Given the description of an element on the screen output the (x, y) to click on. 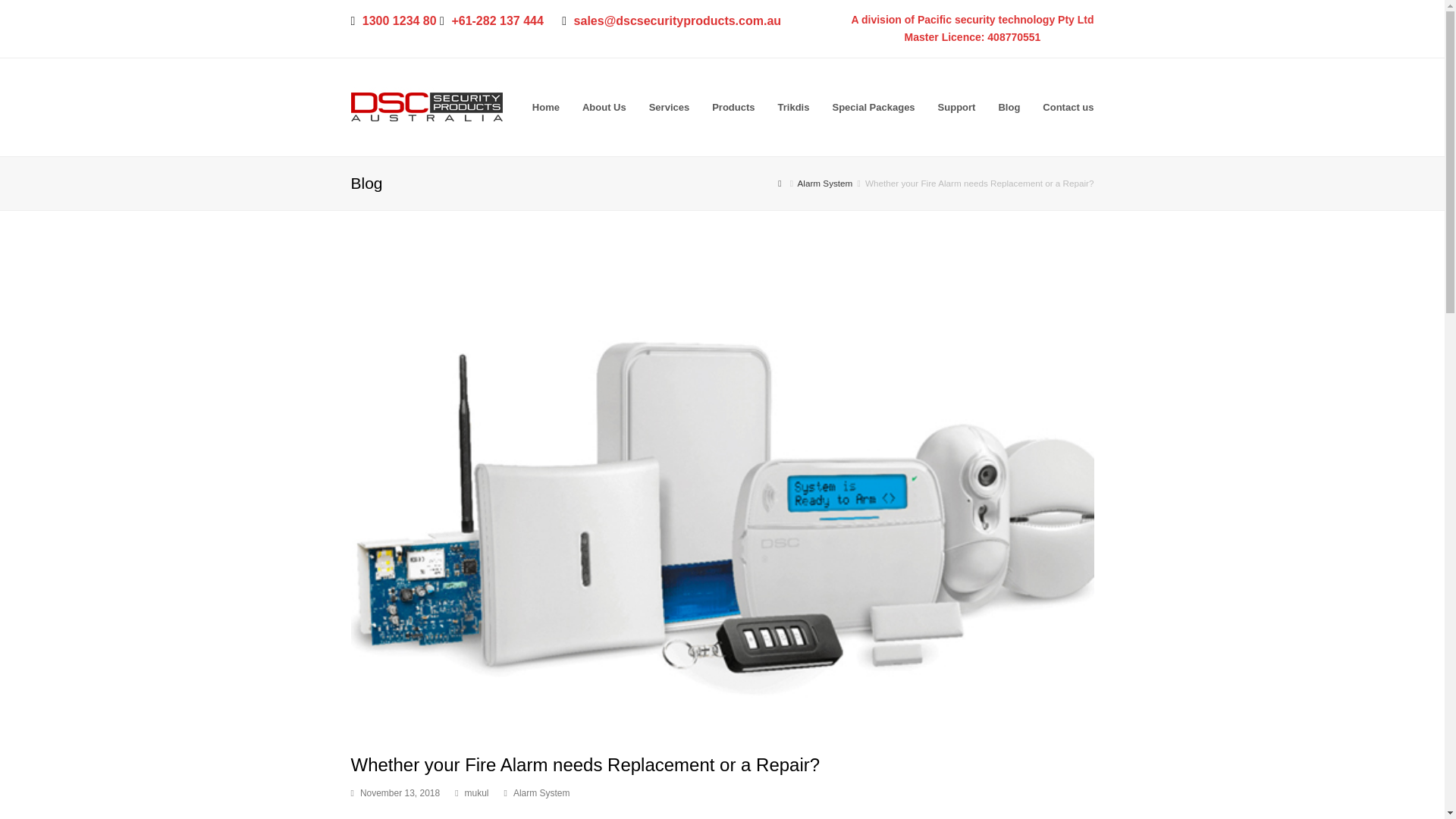
Home (545, 107)
Alarm System (541, 792)
Contact us (1067, 107)
mukul (476, 792)
Posts by mukul (476, 792)
Alarm System (825, 183)
Support (956, 107)
Blog (1008, 107)
Alarm System (541, 792)
Alarm System (825, 183)
